Given the description of an element on the screen output the (x, y) to click on. 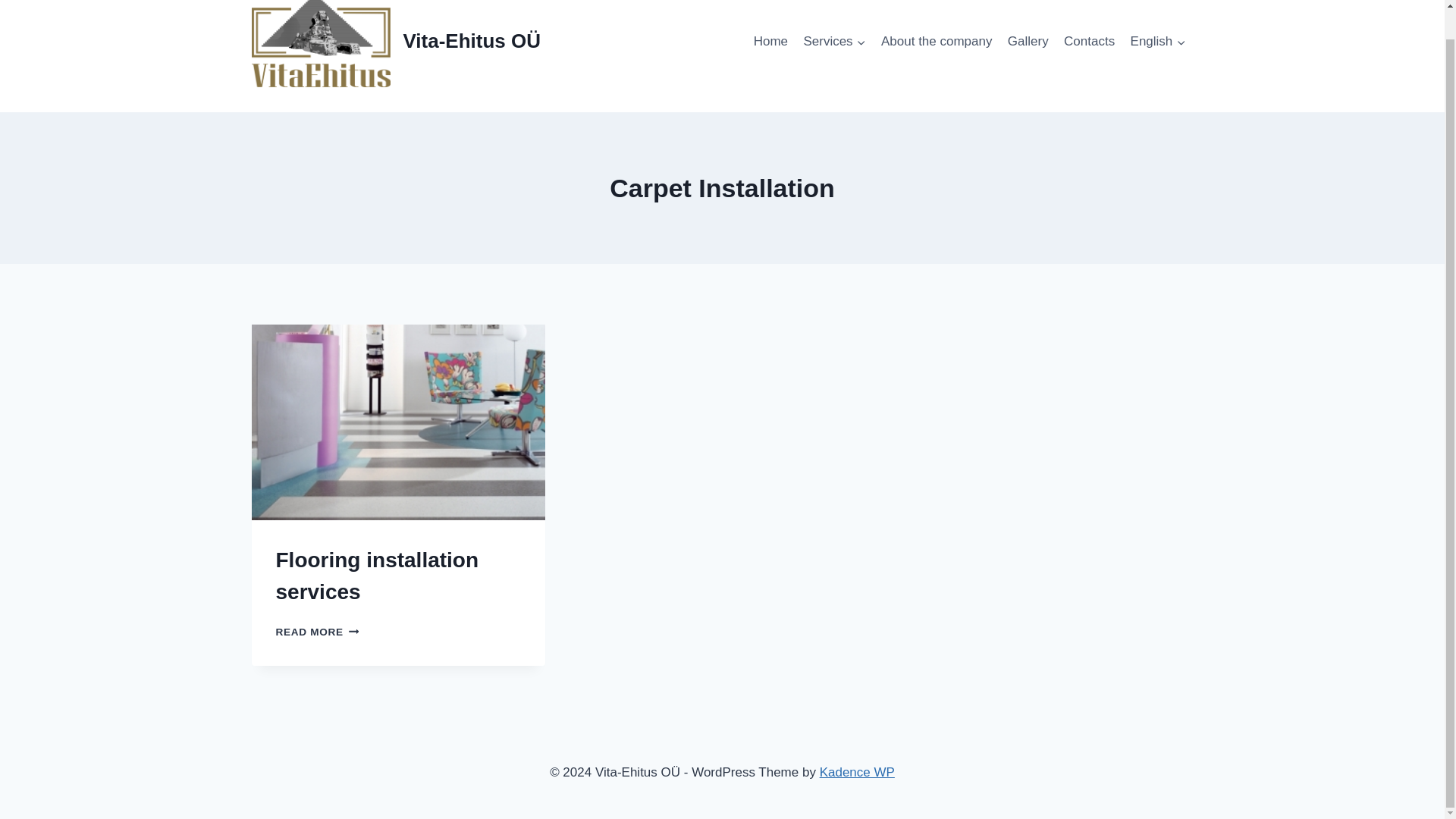
Contacts (1089, 41)
Services (833, 41)
English (1157, 41)
About the company (936, 41)
Kadence WP (857, 771)
Home (770, 41)
Flooring installation services (377, 575)
Gallery (1028, 41)
